Given the description of an element on the screen output the (x, y) to click on. 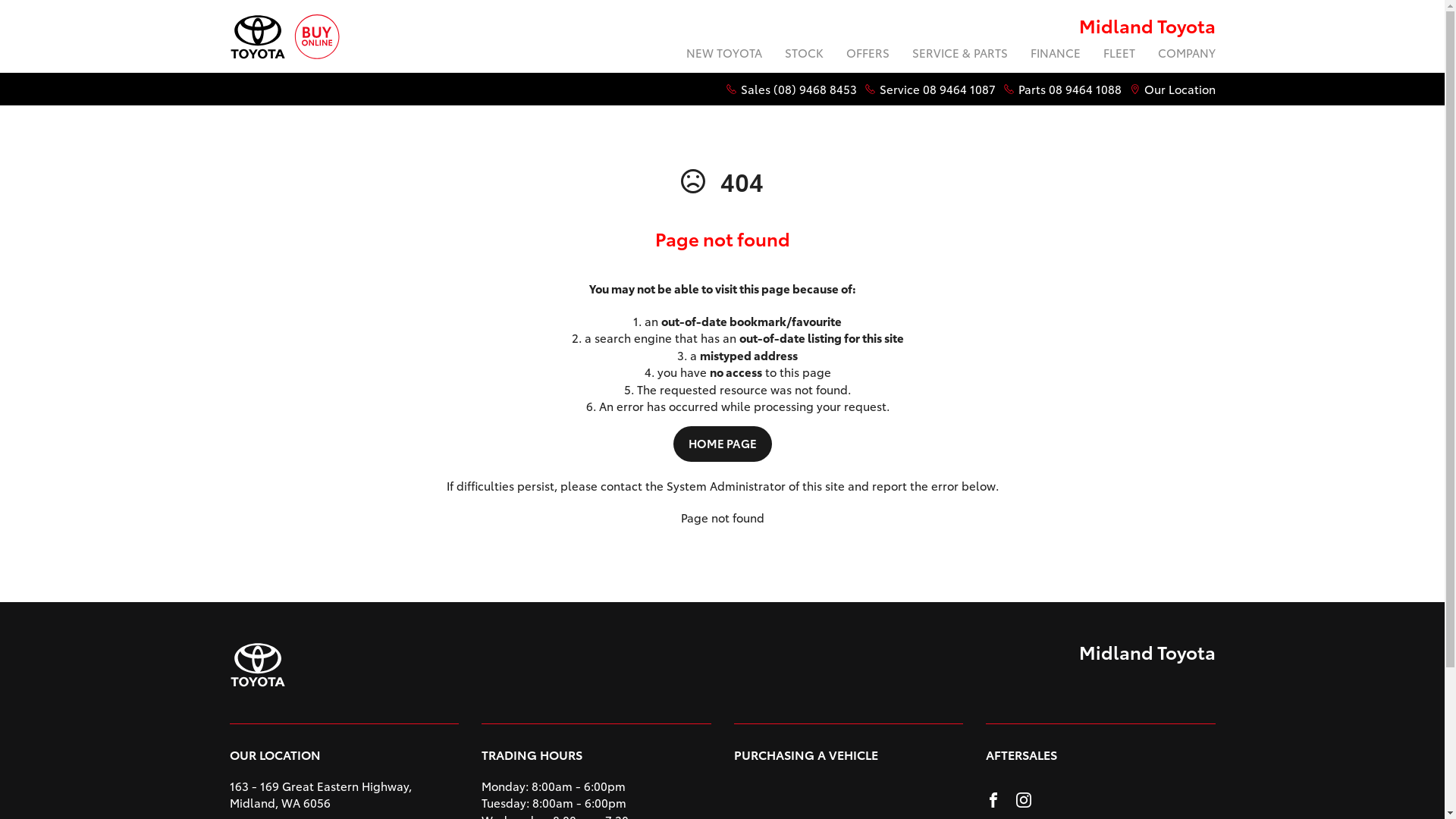
FINANCE Element type: text (1055, 54)
STOCK Element type: text (803, 54)
NEW TOYOTA Element type: text (723, 54)
OFFERS Element type: text (867, 54)
Service 08 9464 1087 Element type: text (937, 88)
Our Location Element type: text (1178, 88)
HOME PAGE Element type: text (722, 443)
Sales (08) 9468 8453 Element type: text (798, 88)
Parts 08 9464 1088 Element type: text (1068, 88)
COMPANY Element type: text (1180, 54)
FLEET Element type: text (1119, 54)
SERVICE & PARTS Element type: text (959, 54)
